Given the description of an element on the screen output the (x, y) to click on. 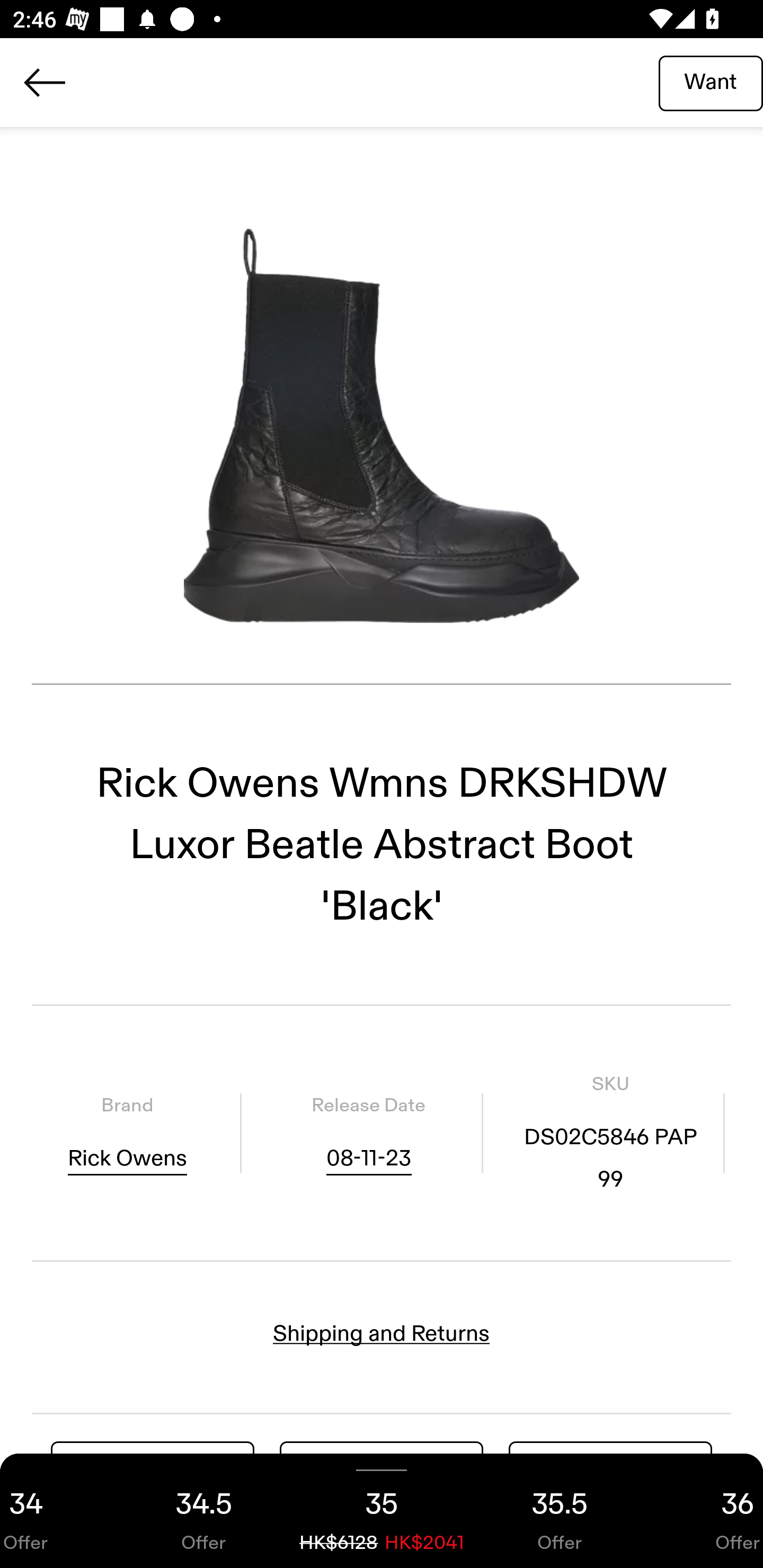
Want (710, 82)
Brand Rick Owens (126, 1133)
Release Date 08-11-23 (368, 1133)
SKU DS02C5846 PAP 99 (609, 1133)
Shipping and Returns (381, 1333)
34 Offer (57, 1510)
34.5 Offer (203, 1510)
35 HK$6128 HK$2041 (381, 1510)
35.5 Offer (559, 1510)
36 Offer (705, 1510)
